Given the description of an element on the screen output the (x, y) to click on. 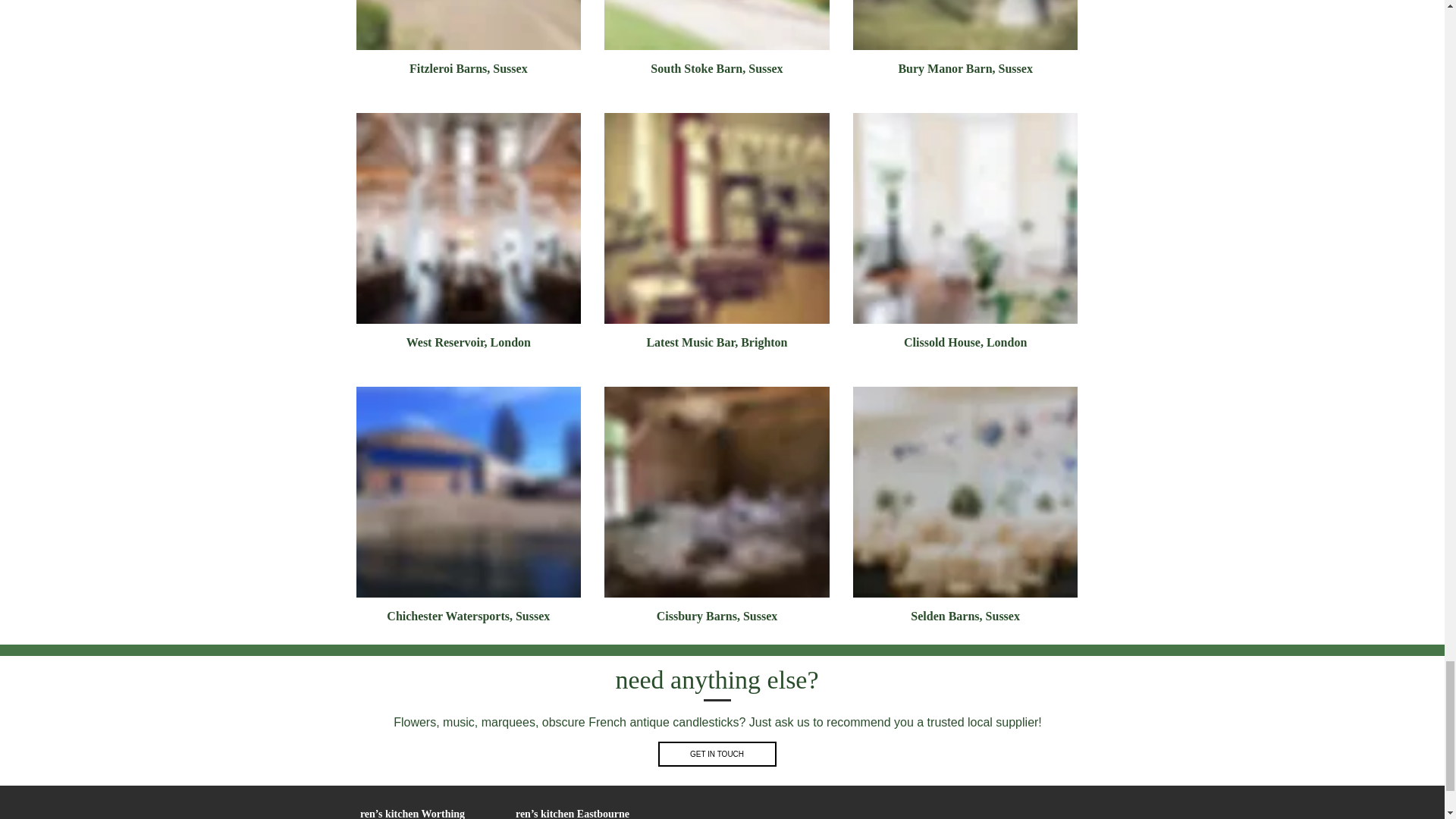
Cissbury Barns, Sussex (716, 511)
South Stoke Barn, Sussex (716, 44)
Clissold House, London (965, 238)
GET IN TOUCH (717, 754)
Selden Barns, Sussex (965, 511)
Fitzleroi Barns, Sussex (468, 44)
West Reservoir, London (468, 238)
Bury Manor Barn, Sussex (965, 44)
Latest Music Bar, Brighton (716, 238)
